Given the description of an element on the screen output the (x, y) to click on. 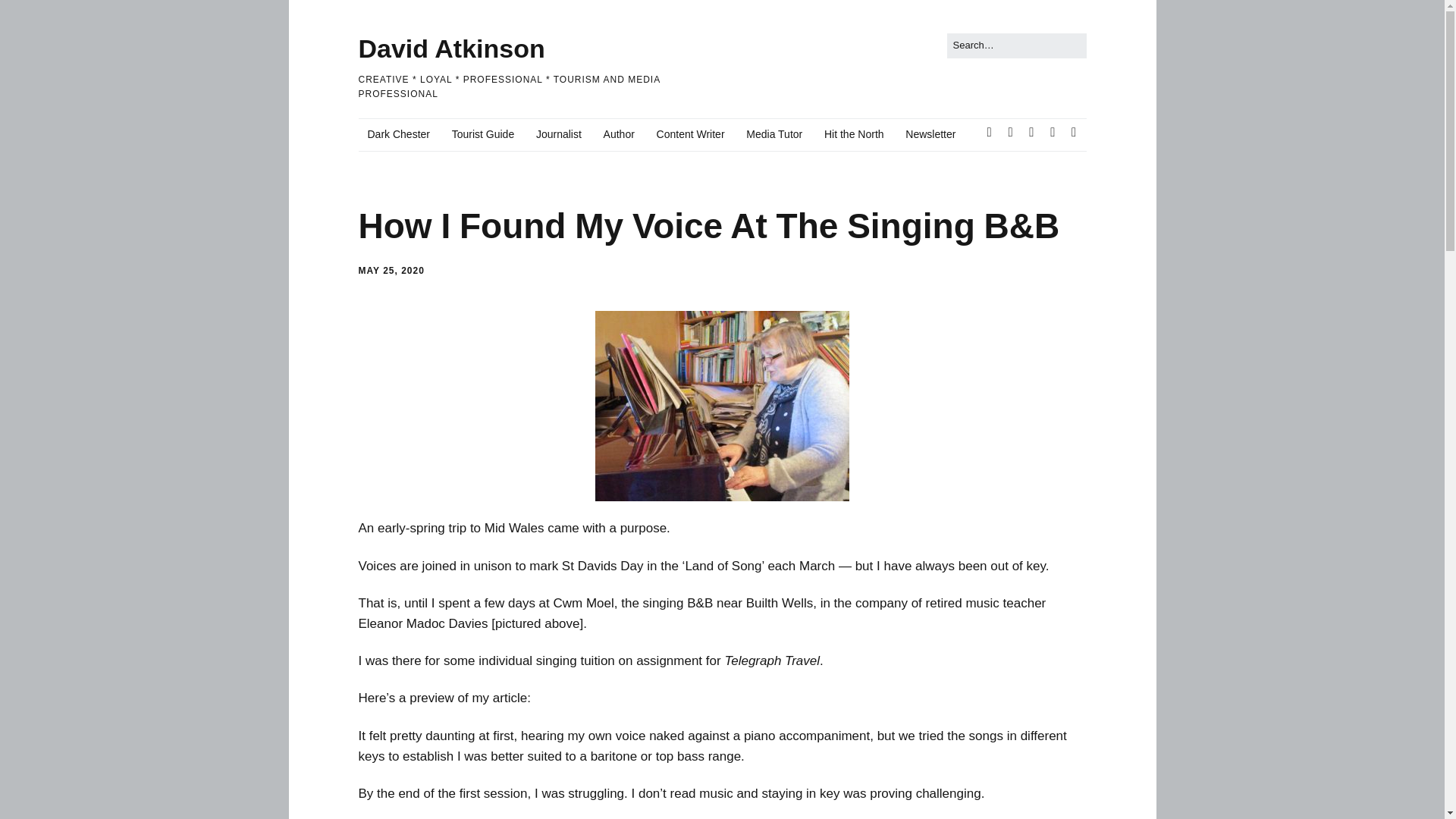
Dark Chester (398, 134)
Author (618, 134)
Journalist (559, 134)
Press Enter to submit your search (1016, 45)
Newsletter (929, 134)
Tourist Guide (482, 134)
Content Writer (690, 134)
Hit the North (854, 134)
Search (29, 15)
David Atkinson (451, 48)
